Given the description of an element on the screen output the (x, y) to click on. 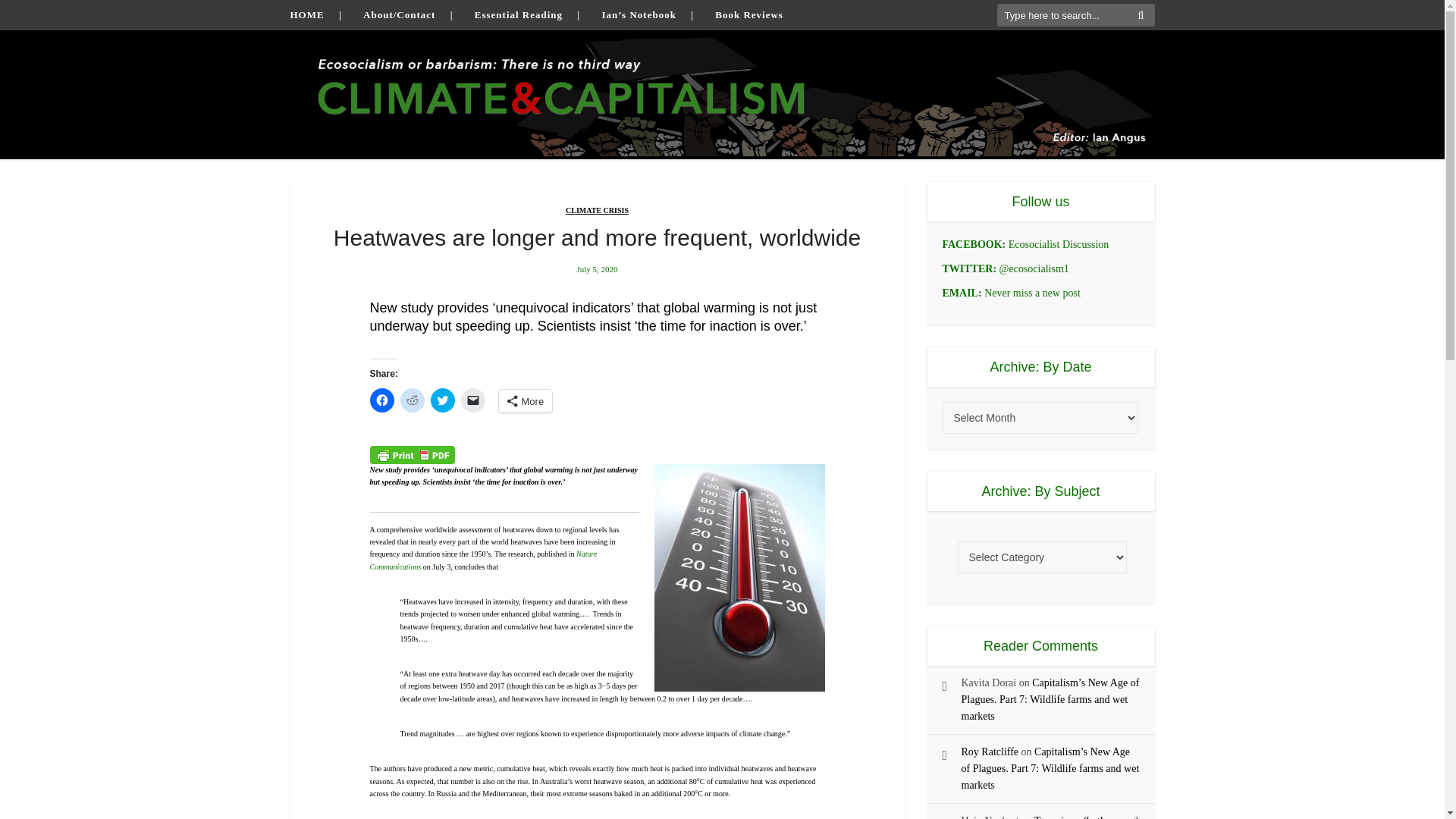
Click to share on Reddit (412, 400)
Click to share on Twitter (442, 400)
Click to email a link to a friend (472, 400)
Type here to search... (1074, 15)
More (526, 400)
Type here to search... (1074, 15)
Nature Communications (482, 559)
HOME (306, 14)
Essential Reading (518, 14)
Book Reviews (748, 14)
